Given the description of an element on the screen output the (x, y) to click on. 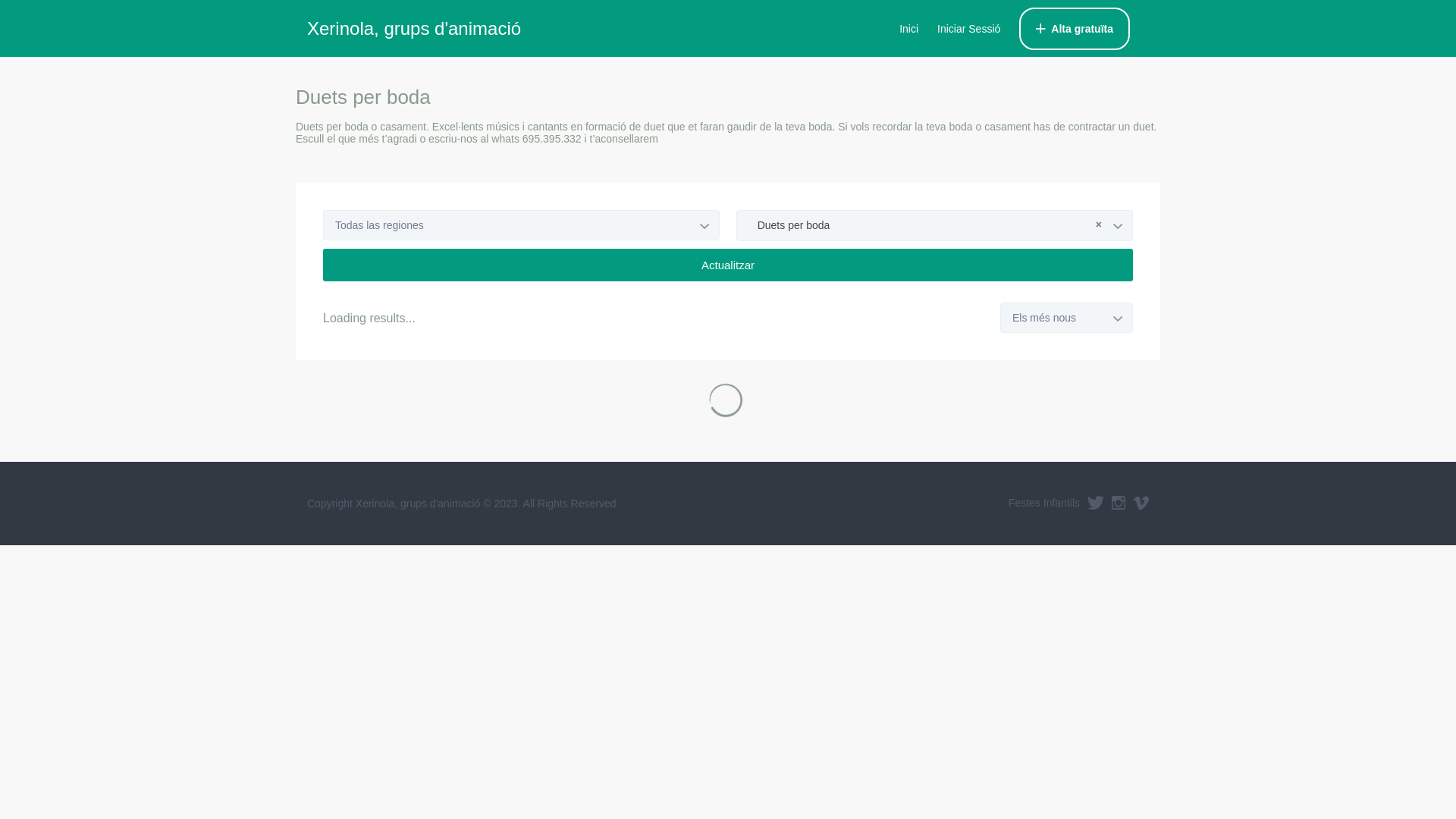
Twitter Element type: text (1095, 502)
Instagram Element type: text (1118, 502)
Actualitzar Element type: text (727, 264)
Todas las regiones Element type: text (521, 225)
Vimeo Element type: text (1140, 502)
Festes Infantils Element type: text (1043, 502)
Inici Element type: text (908, 28)
